Given the description of an element on the screen output the (x, y) to click on. 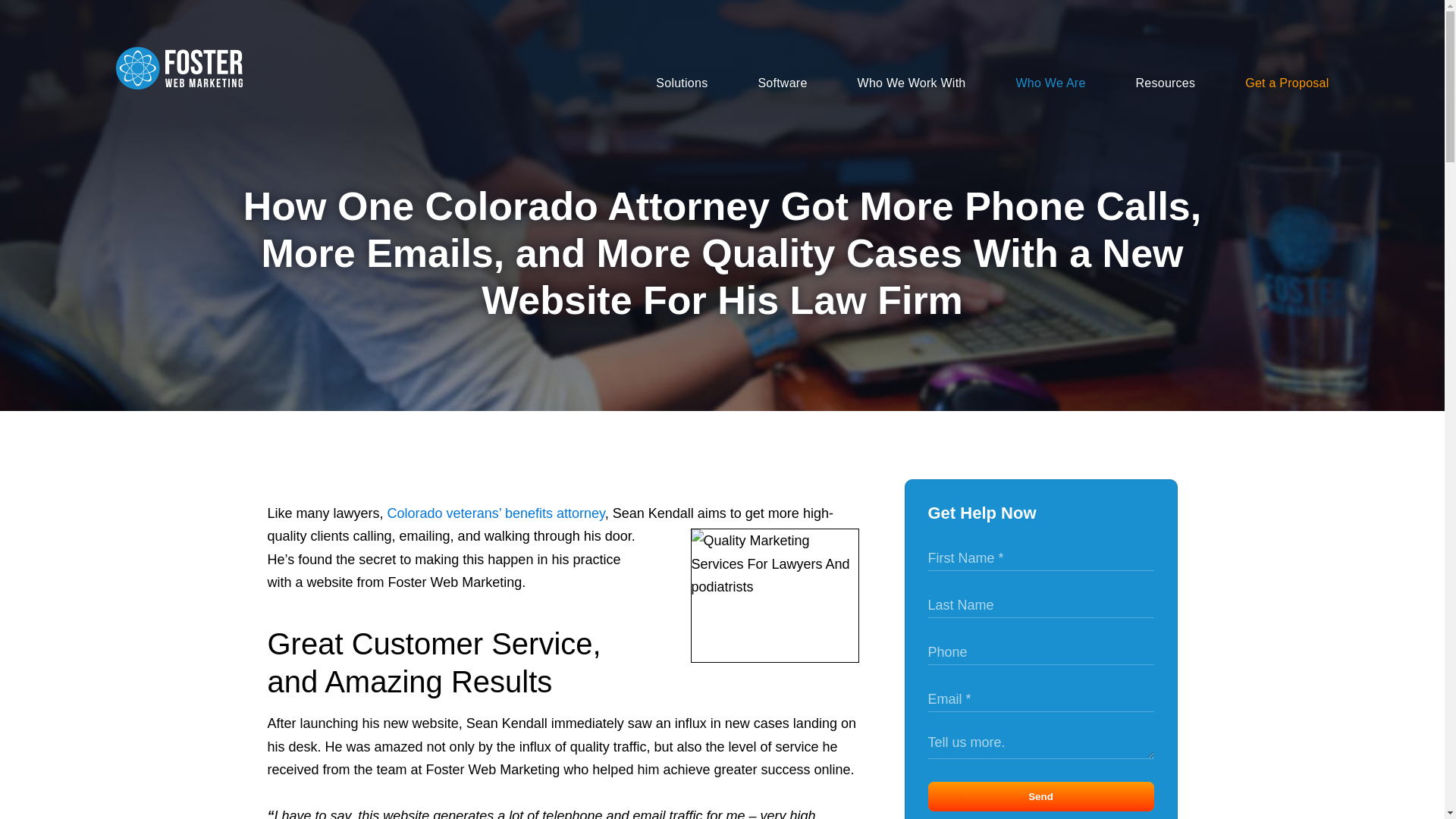
Resources (1140, 83)
Software (756, 83)
Who We Are (1026, 83)
Get a Proposal (1261, 83)
Solutions (656, 83)
Who We Work With (887, 83)
